Given the description of an element on the screen output the (x, y) to click on. 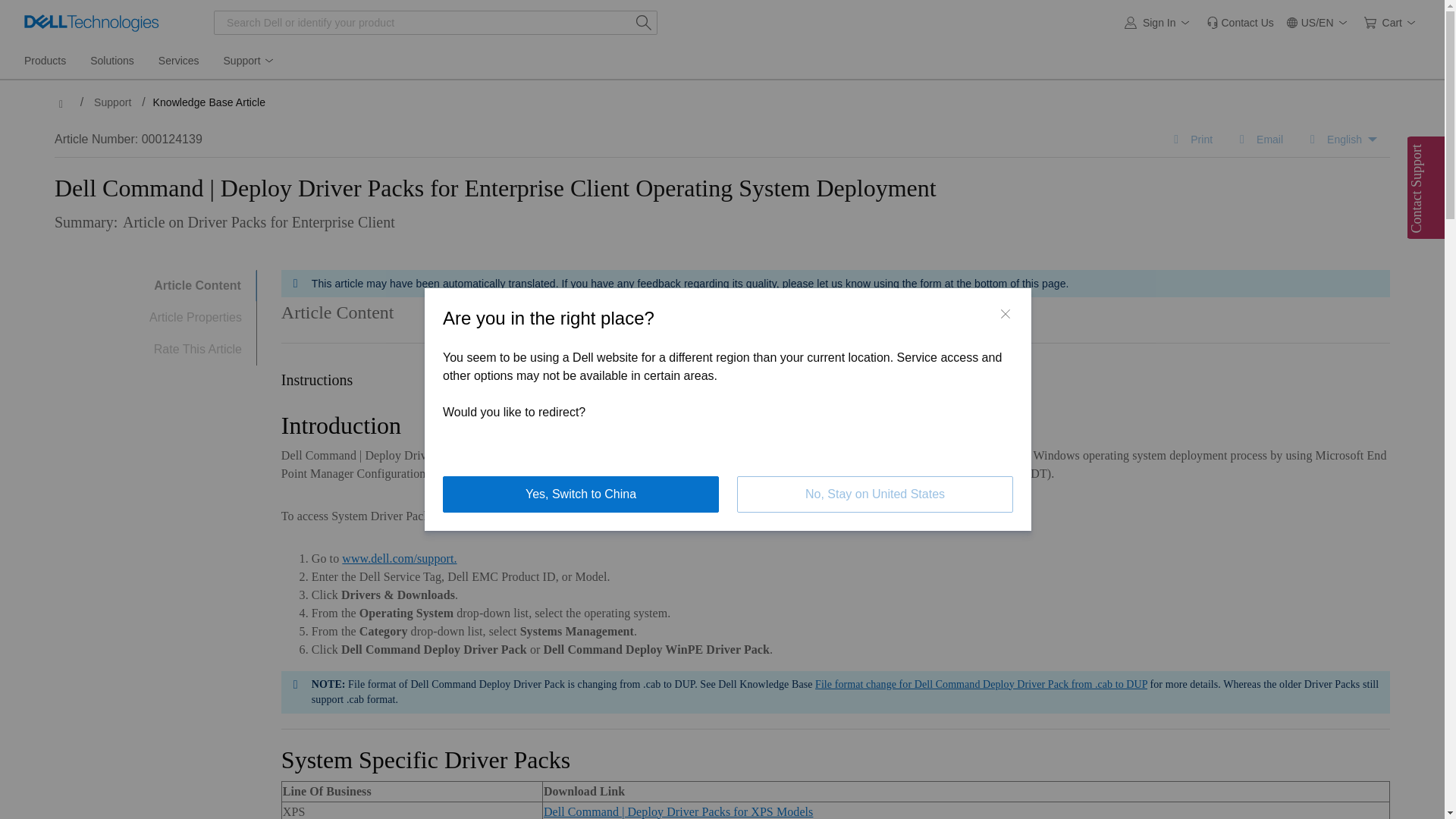
Services (179, 61)
Contact Us (1239, 22)
Solutions (112, 61)
Sign In (1158, 22)
Products (44, 61)
Support (249, 61)
Cart (1392, 22)
